Given the description of an element on the screen output the (x, y) to click on. 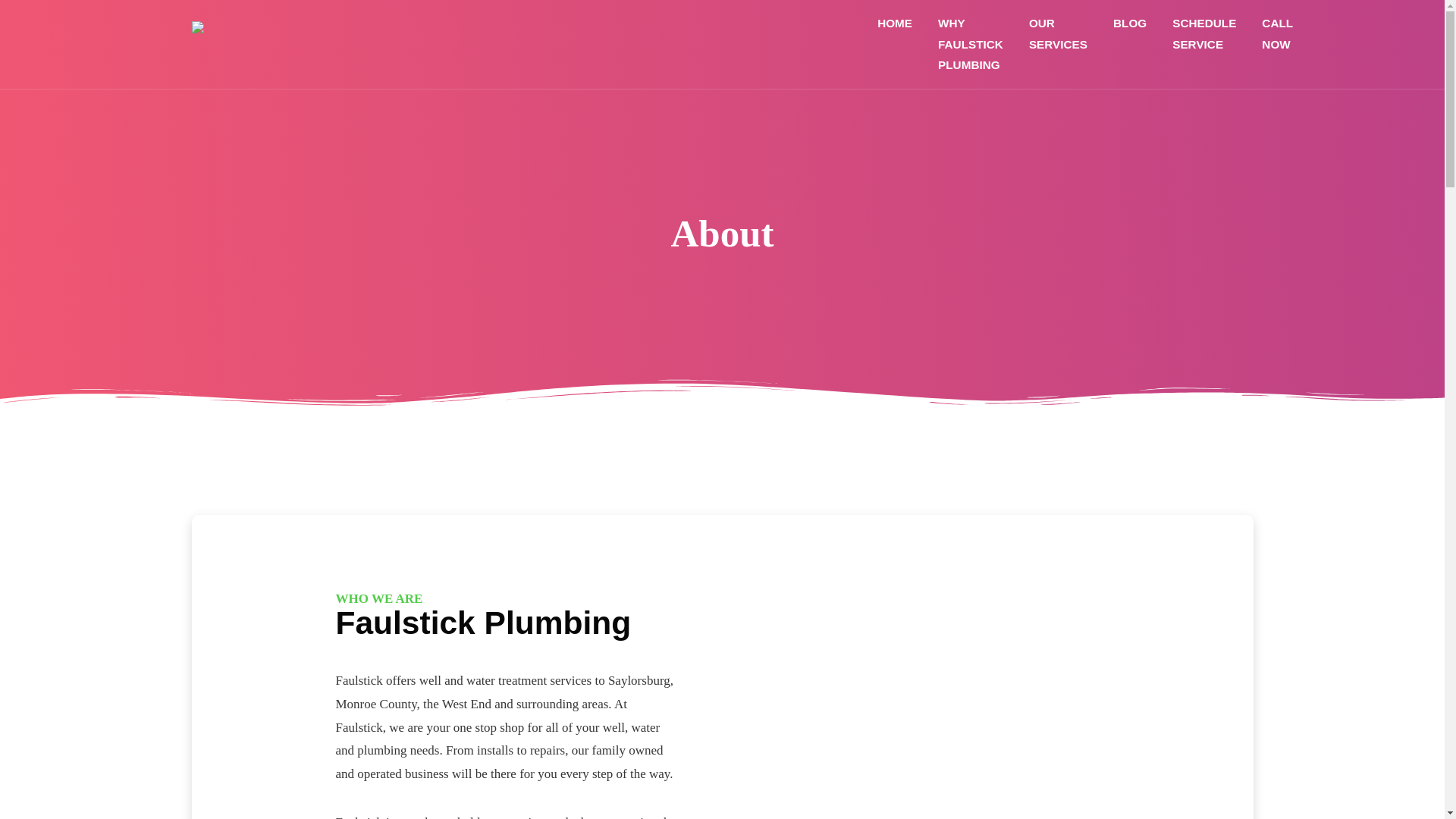
HOME (894, 23)
OUR SERVICES (1058, 33)
SCHEDULE SERVICE (1203, 33)
WHY FAULSTICK PLUMBING (970, 44)
BLOG (1129, 23)
